Given the description of an element on the screen output the (x, y) to click on. 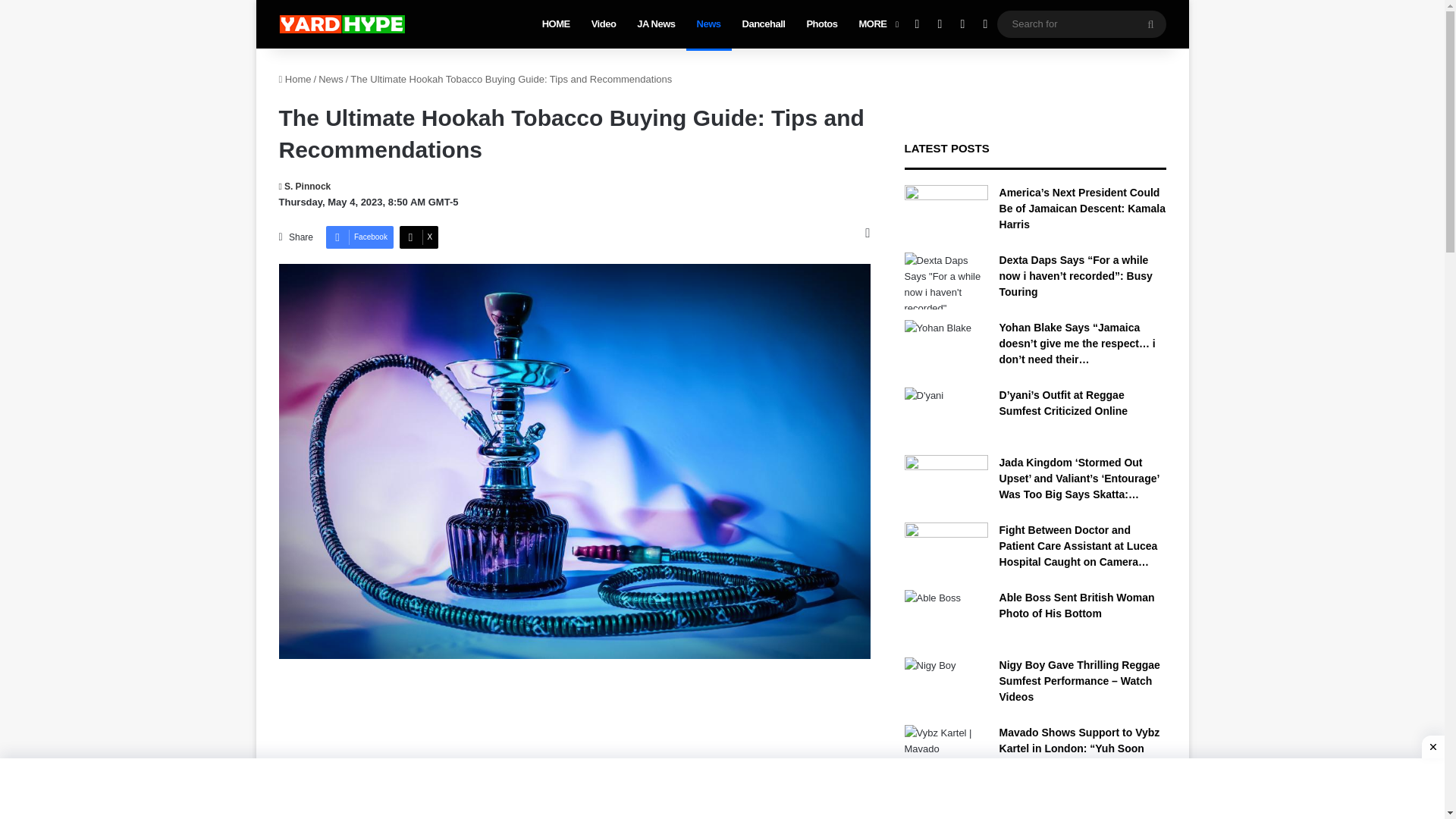
Home (295, 79)
S. Pinnock (305, 185)
Facebook (359, 237)
X (418, 237)
Photos (820, 24)
YARDHYPE (341, 24)
Facebook (359, 237)
HOME (555, 24)
News (708, 24)
MORE (876, 24)
Video (603, 24)
X (418, 237)
tobacco (520, 799)
Dancehall (764, 24)
News (330, 79)
